Given the description of an element on the screen output the (x, y) to click on. 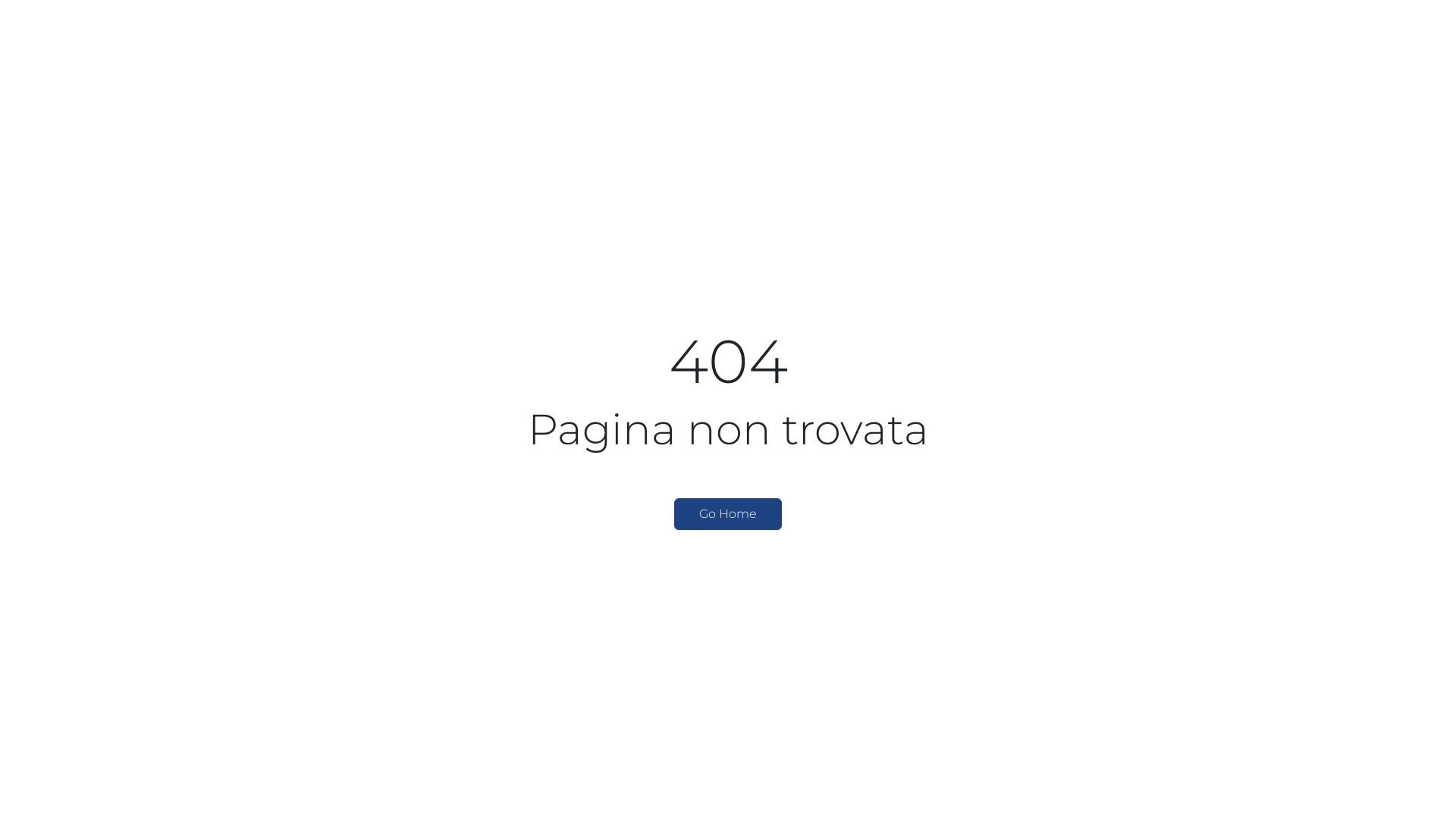
Go Home Element type: text (727, 514)
